Given the description of an element on the screen output the (x, y) to click on. 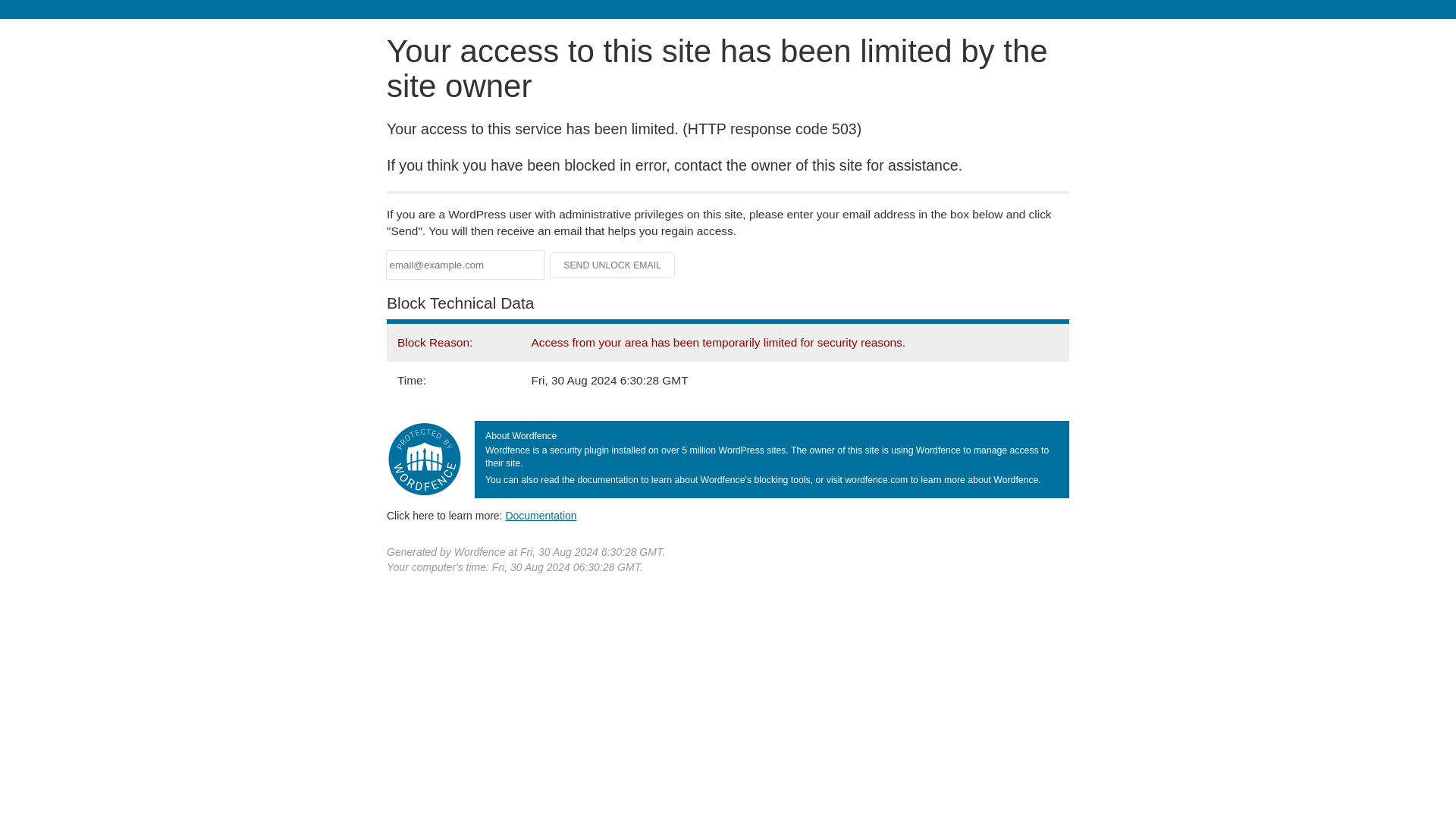
Send Unlock Email (612, 265)
Documentation (540, 515)
Send Unlock Email (612, 265)
